Given the description of an element on the screen output the (x, y) to click on. 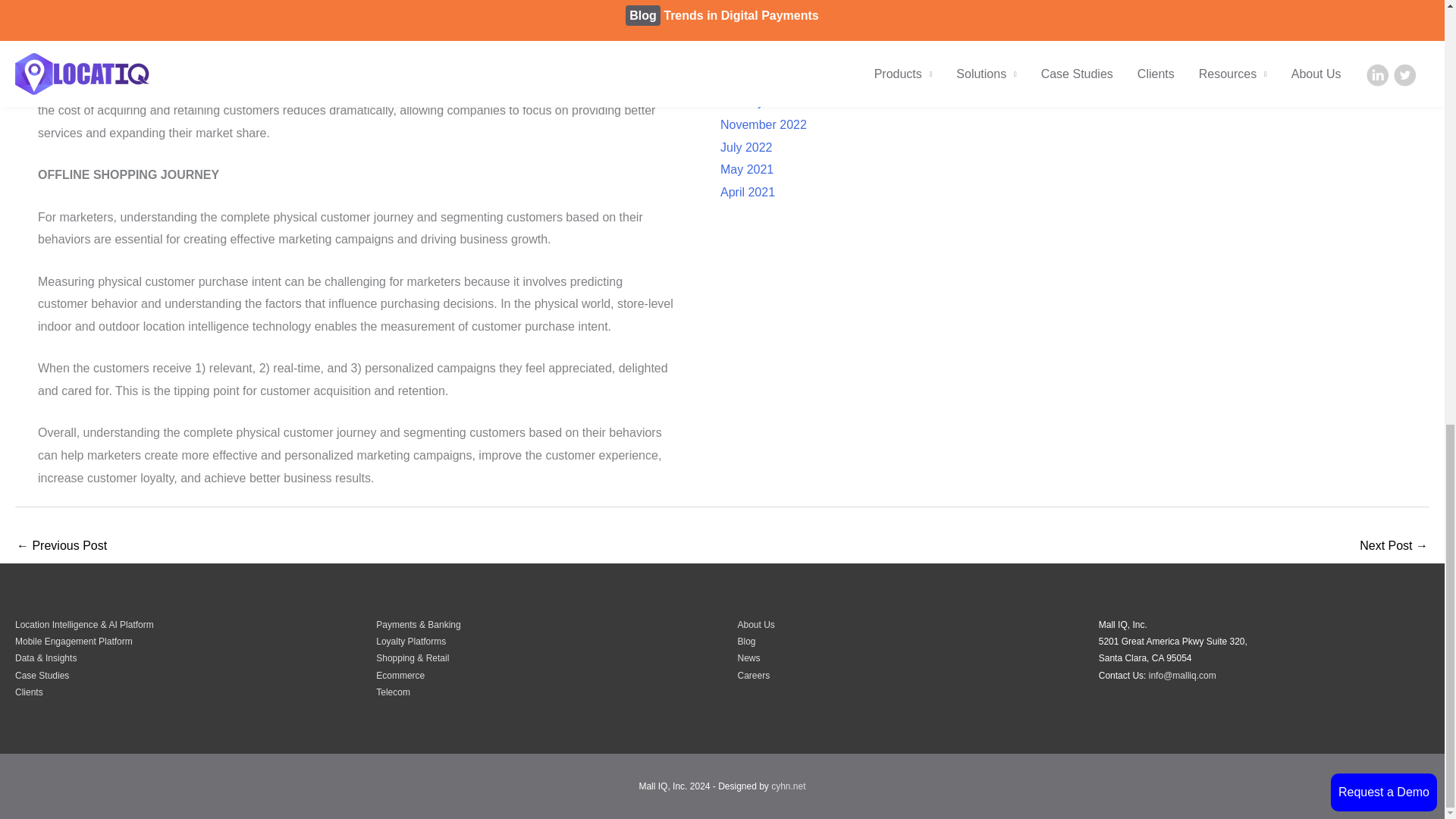
How Location Intelligence is Driving Business Growth in 2023 (1393, 547)
